Given the description of an element on the screen output the (x, y) to click on. 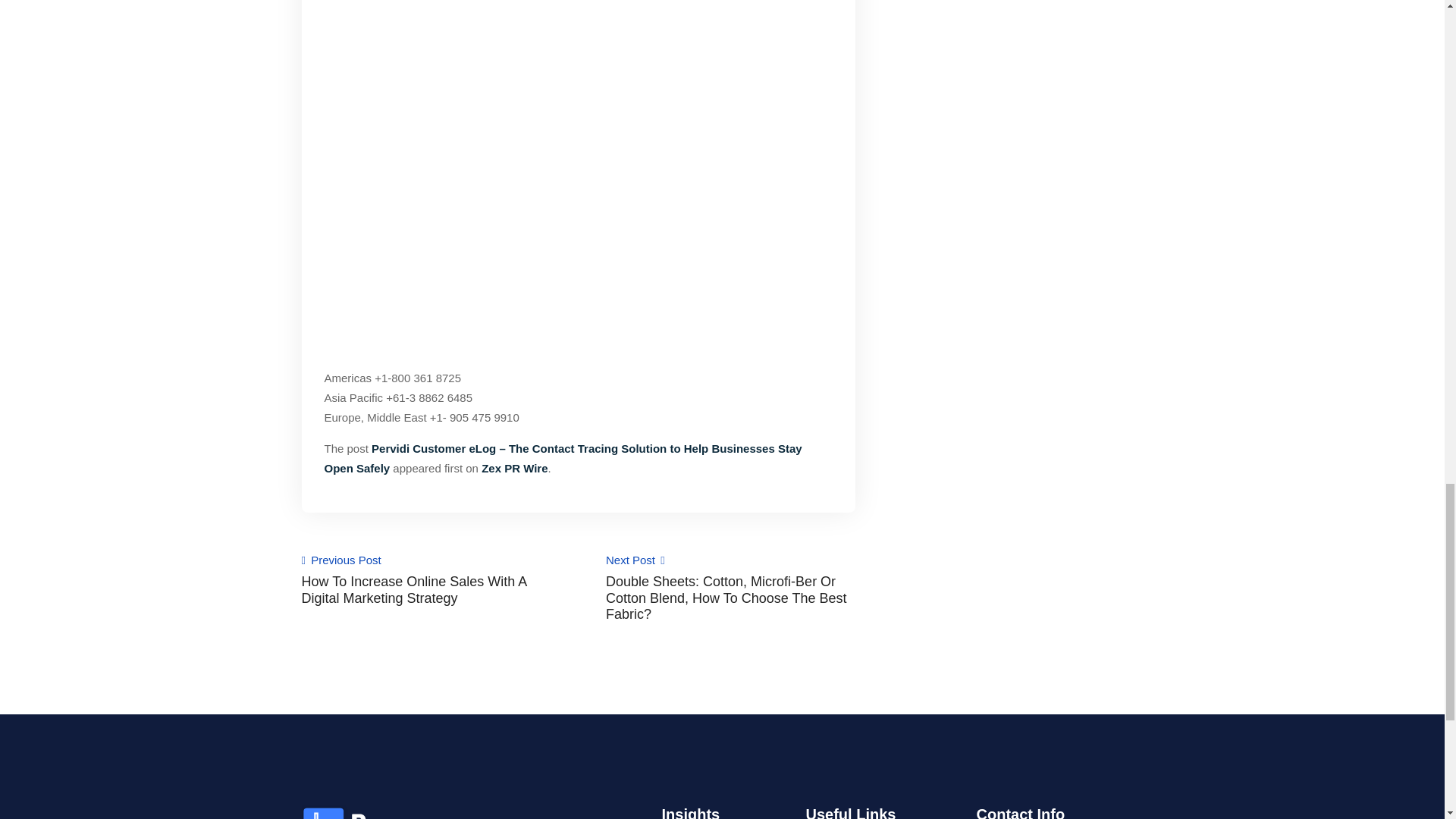
Zex PR Wire (514, 468)
